Given the description of an element on the screen output the (x, y) to click on. 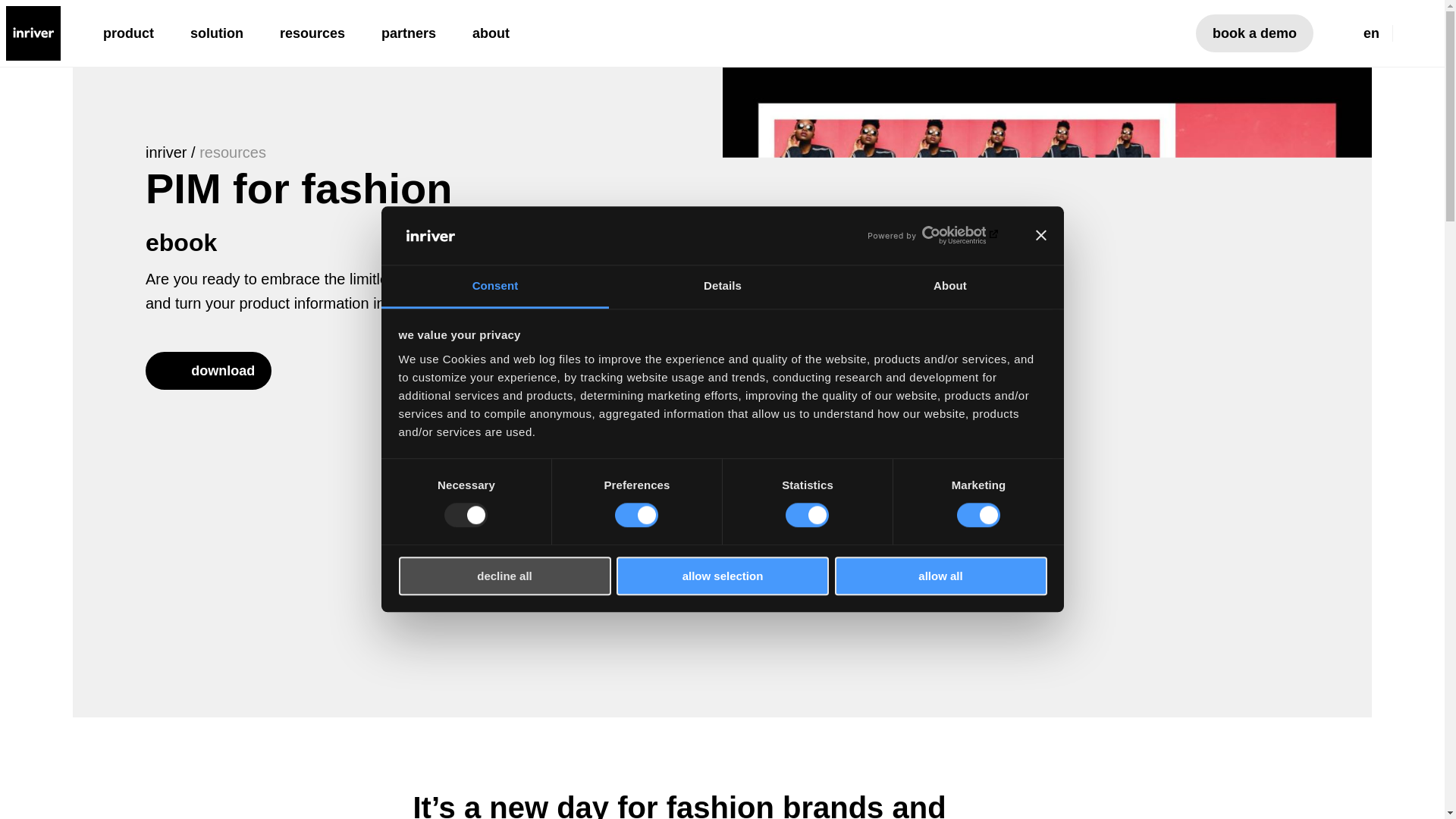
Consent (494, 286)
About (948, 286)
Details (721, 286)
